Given the description of an element on the screen output the (x, y) to click on. 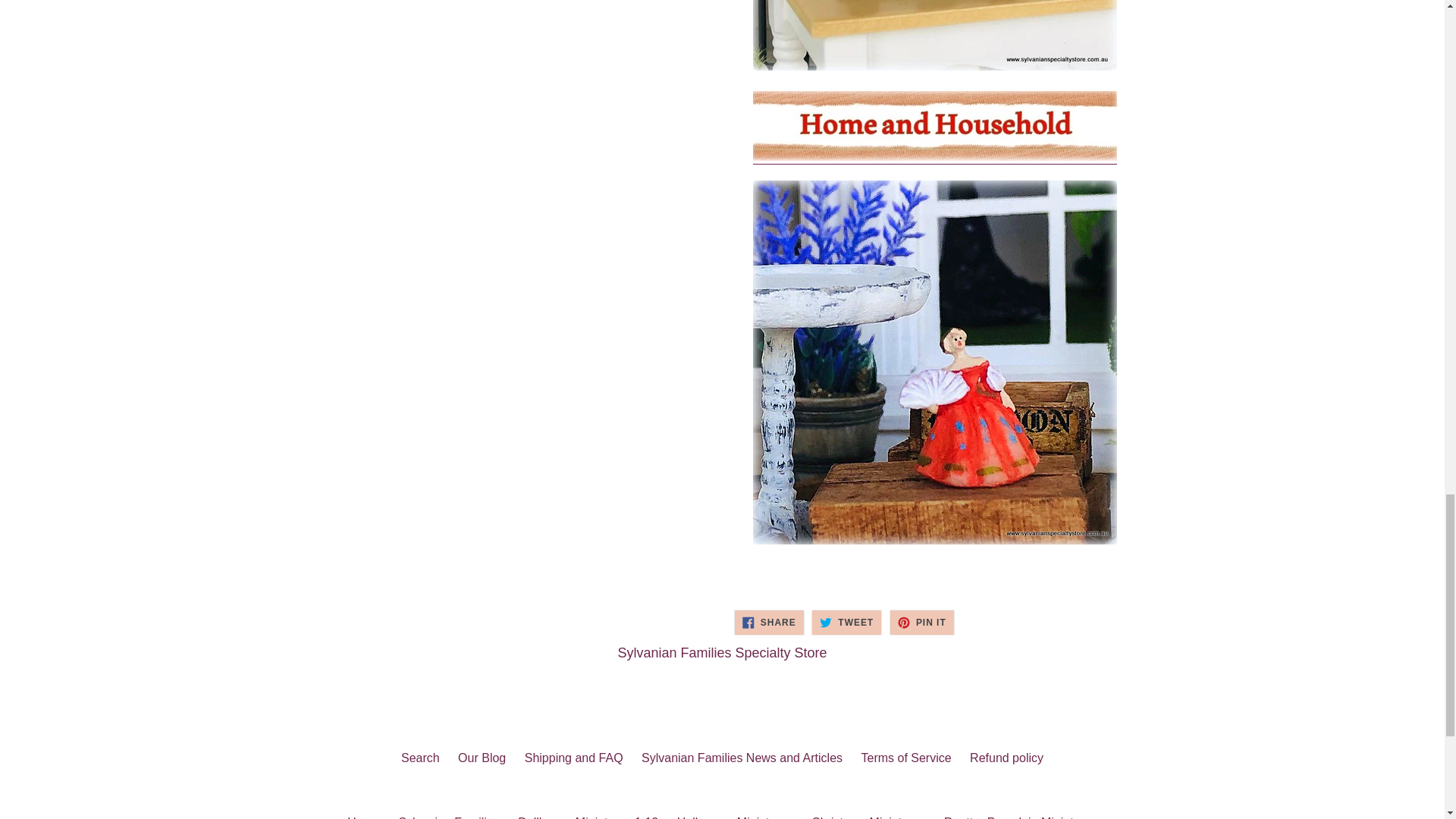
Share on Facebook (769, 622)
Pin on Pinterest (922, 622)
Tweet on Twitter (846, 622)
